Given the description of an element on the screen output the (x, y) to click on. 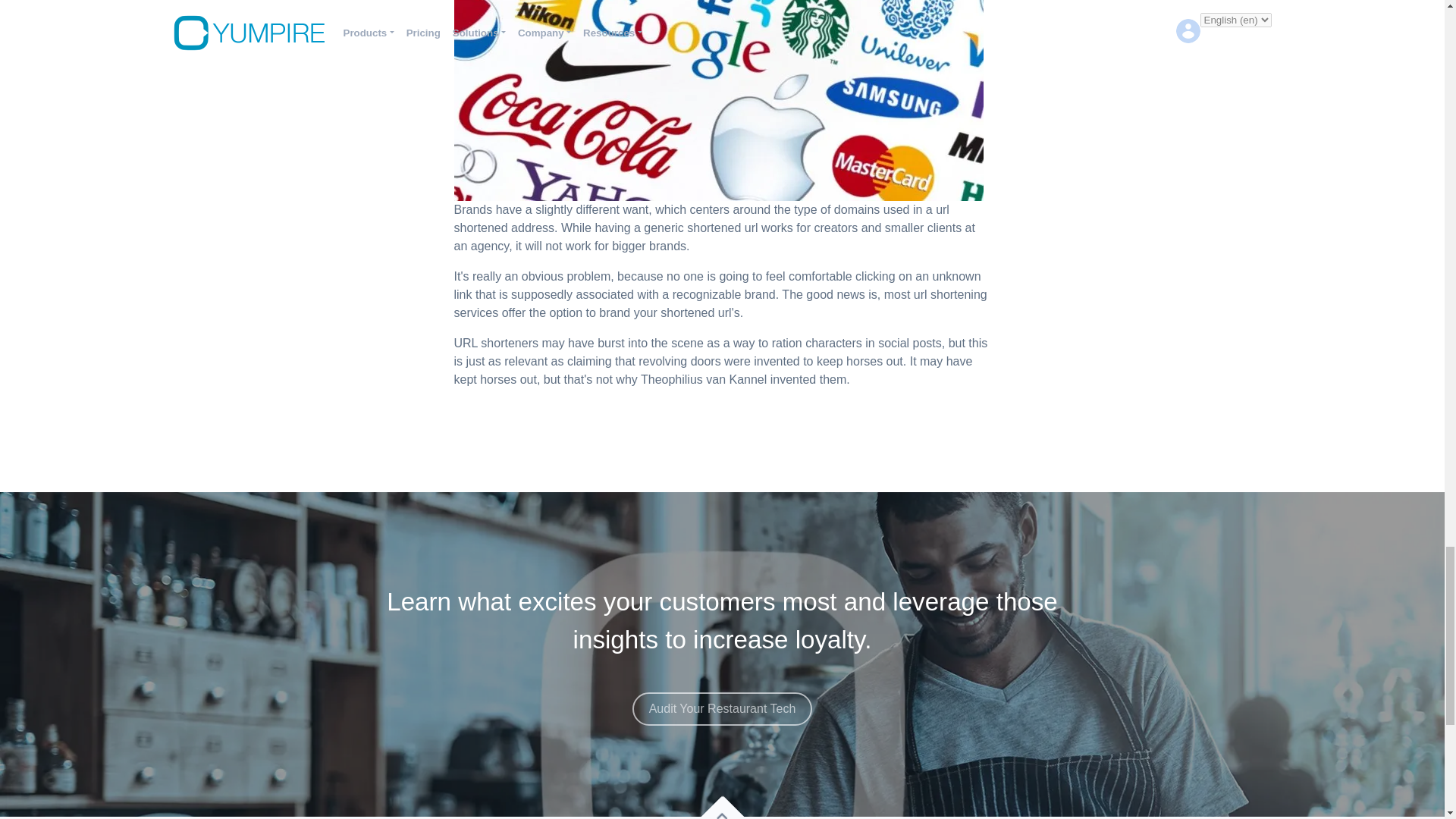
Audit Your Restaurant Tech (721, 697)
Audit Your Restaurant Tech (721, 708)
